Given the description of an element on the screen output the (x, y) to click on. 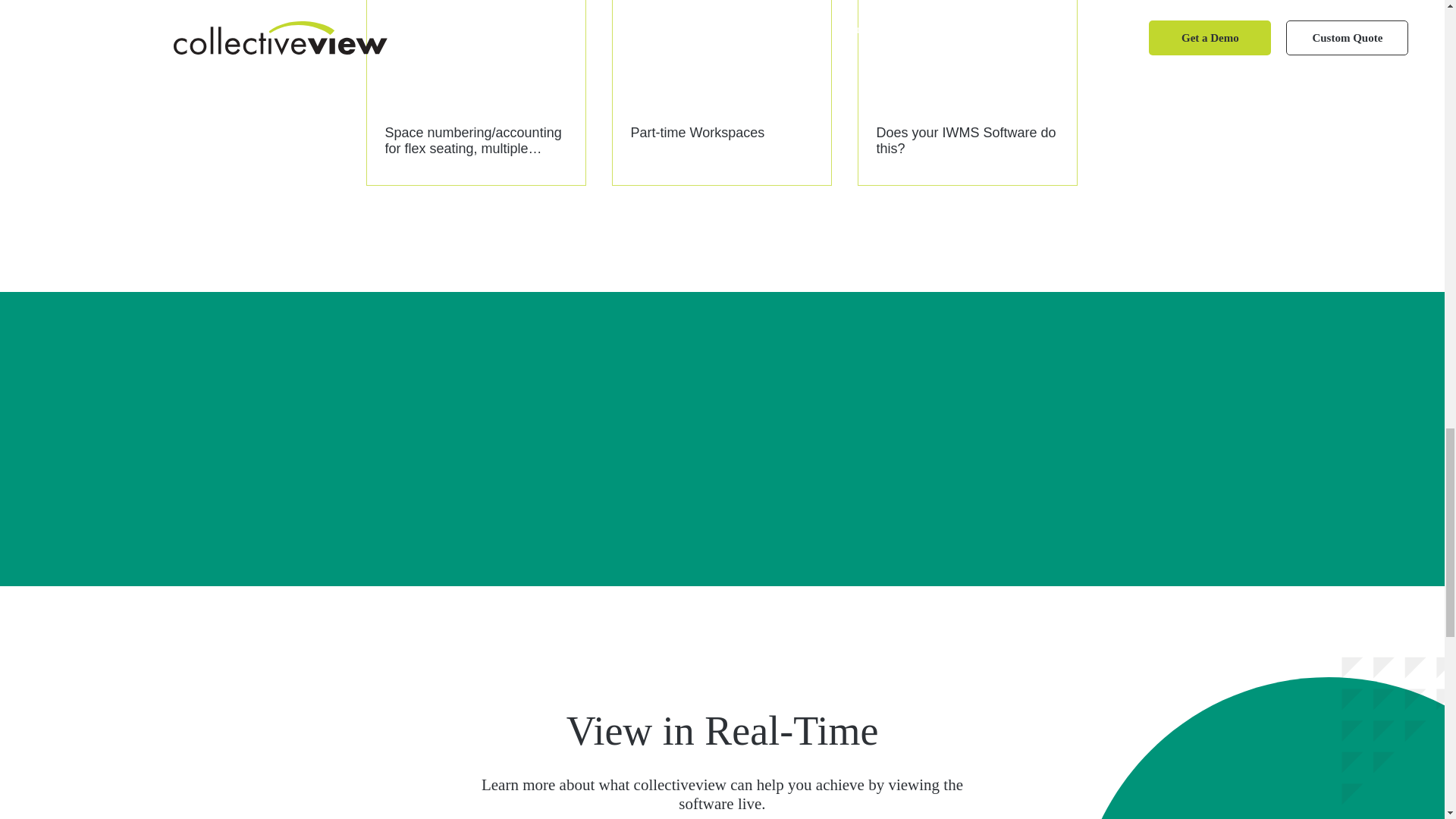
Does your IWMS Software do this? (967, 141)
Part-time Workspaces (721, 132)
